Given the description of an element on the screen output the (x, y) to click on. 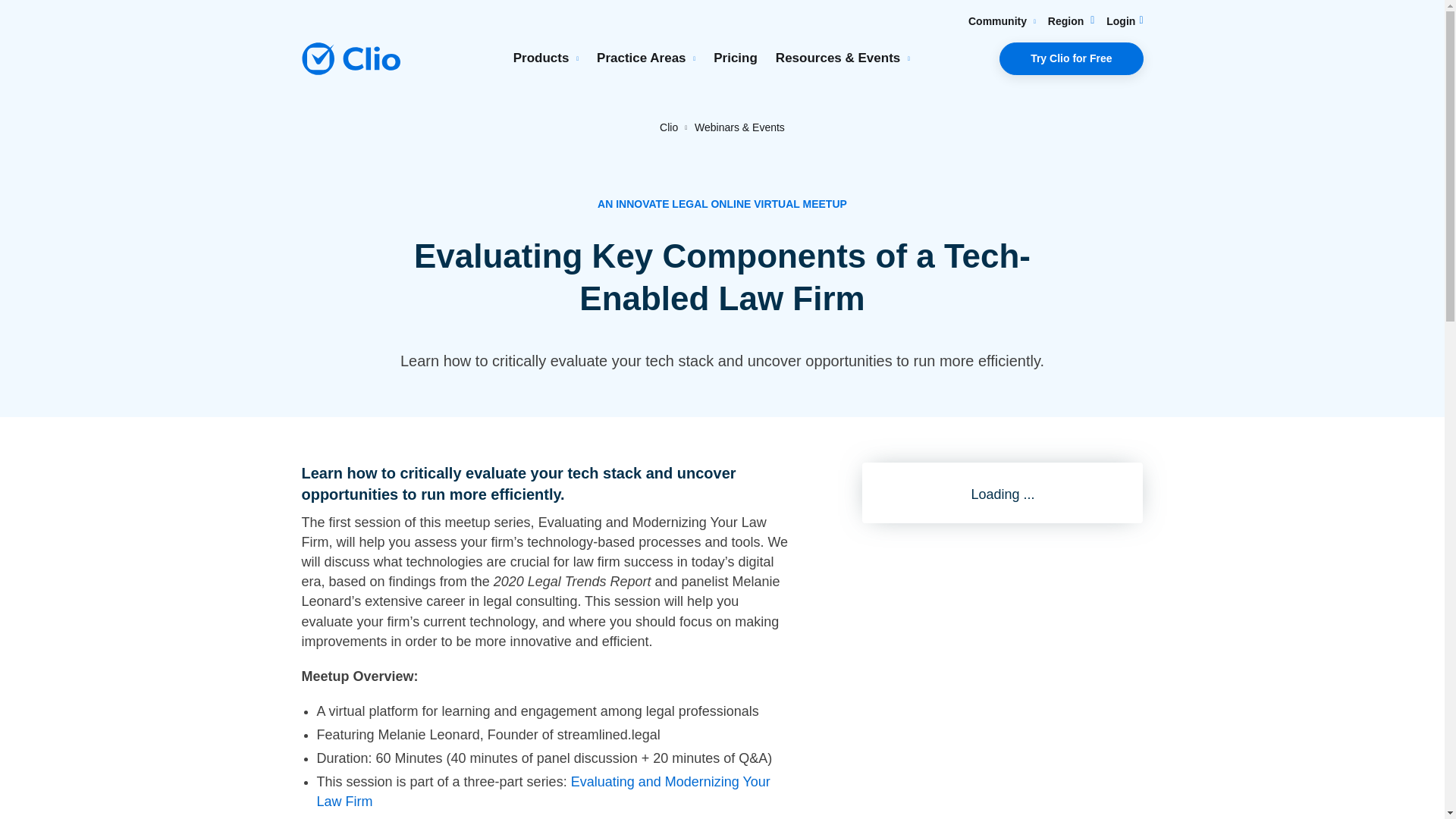
Region (1071, 21)
Products (545, 58)
Login (1124, 21)
Community (1001, 21)
Clio logo (350, 59)
